Given the description of an element on the screen output the (x, y) to click on. 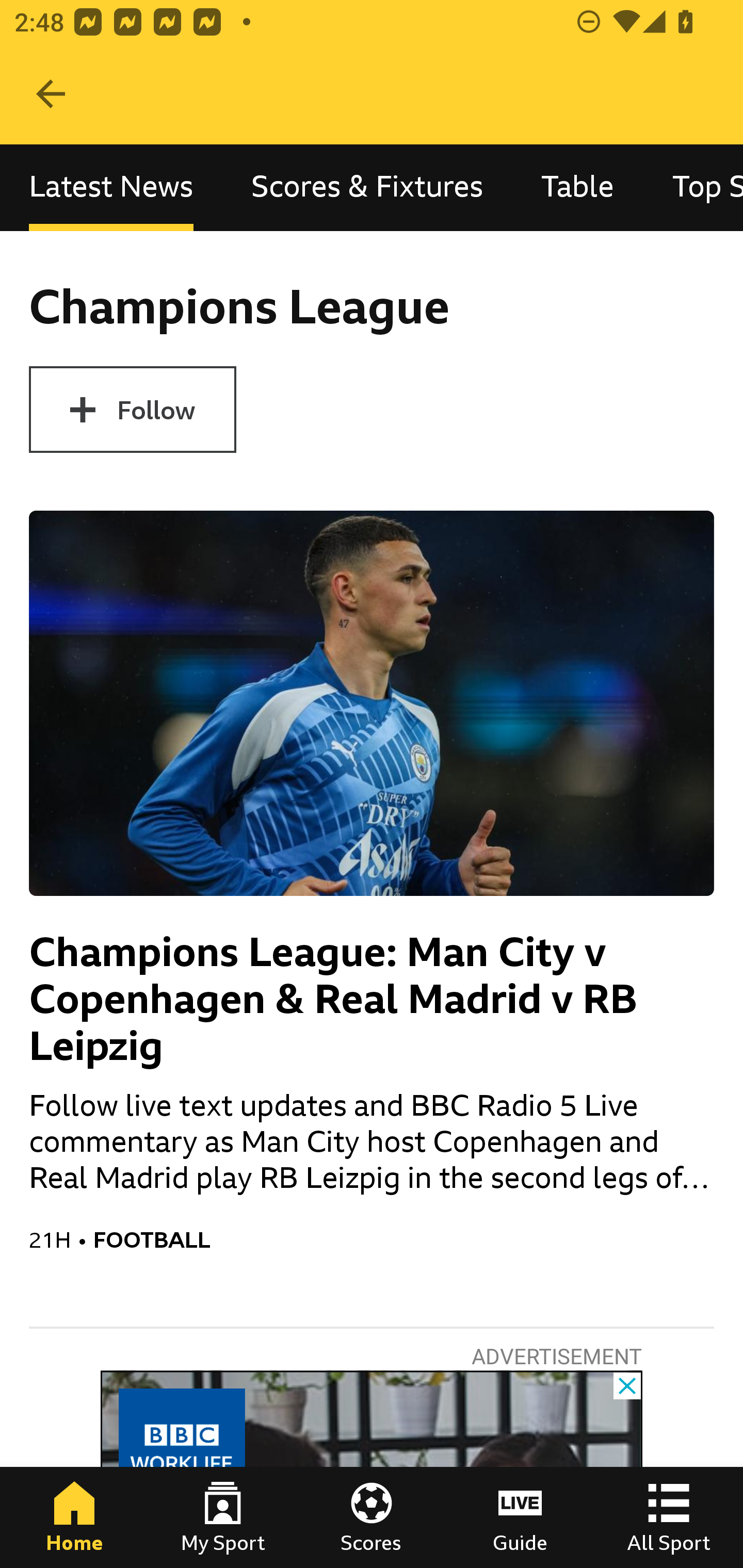
Navigate up (50, 93)
Latest News, selected Latest News (111, 187)
Scores & Fixtures (367, 187)
Table (577, 187)
Follow Champions League Follow (132, 409)
FOOTBALL In the section Football (403, 1239)
My Sport (222, 1517)
Scores (371, 1517)
Guide (519, 1517)
All Sport (668, 1517)
